Given the description of an element on the screen output the (x, y) to click on. 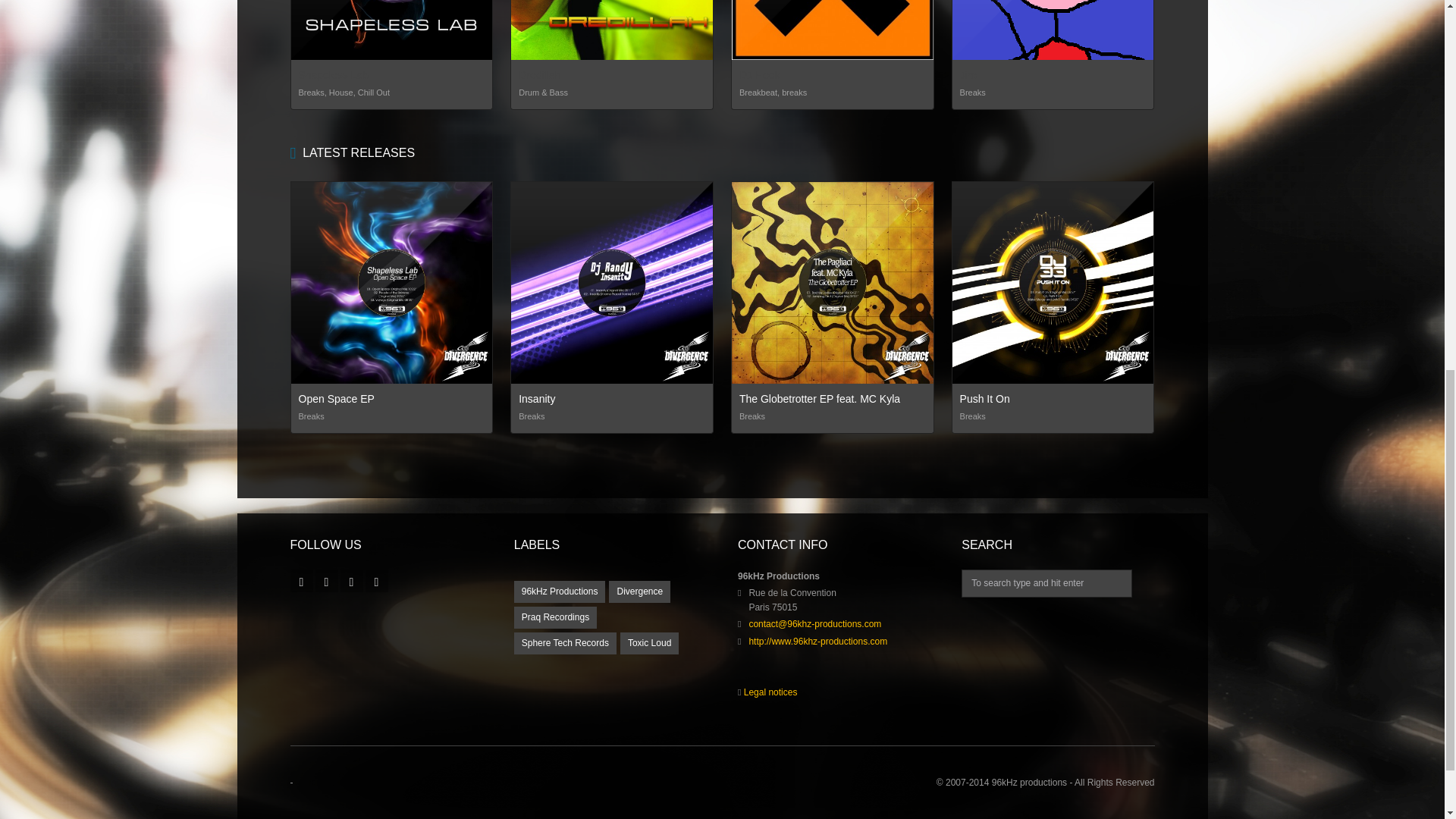
DJ Hook (759, 74)
To search type and hit enter (1046, 583)
Push It On (984, 398)
Insanity (536, 398)
Shapeless Lab (333, 74)
Jiro (967, 74)
To search type and hit enter (1046, 583)
The Globetrotter EP feat. MC Kyla (819, 398)
Open Space EP (336, 398)
96kHz Productions (559, 591)
